Given the description of an element on the screen output the (x, y) to click on. 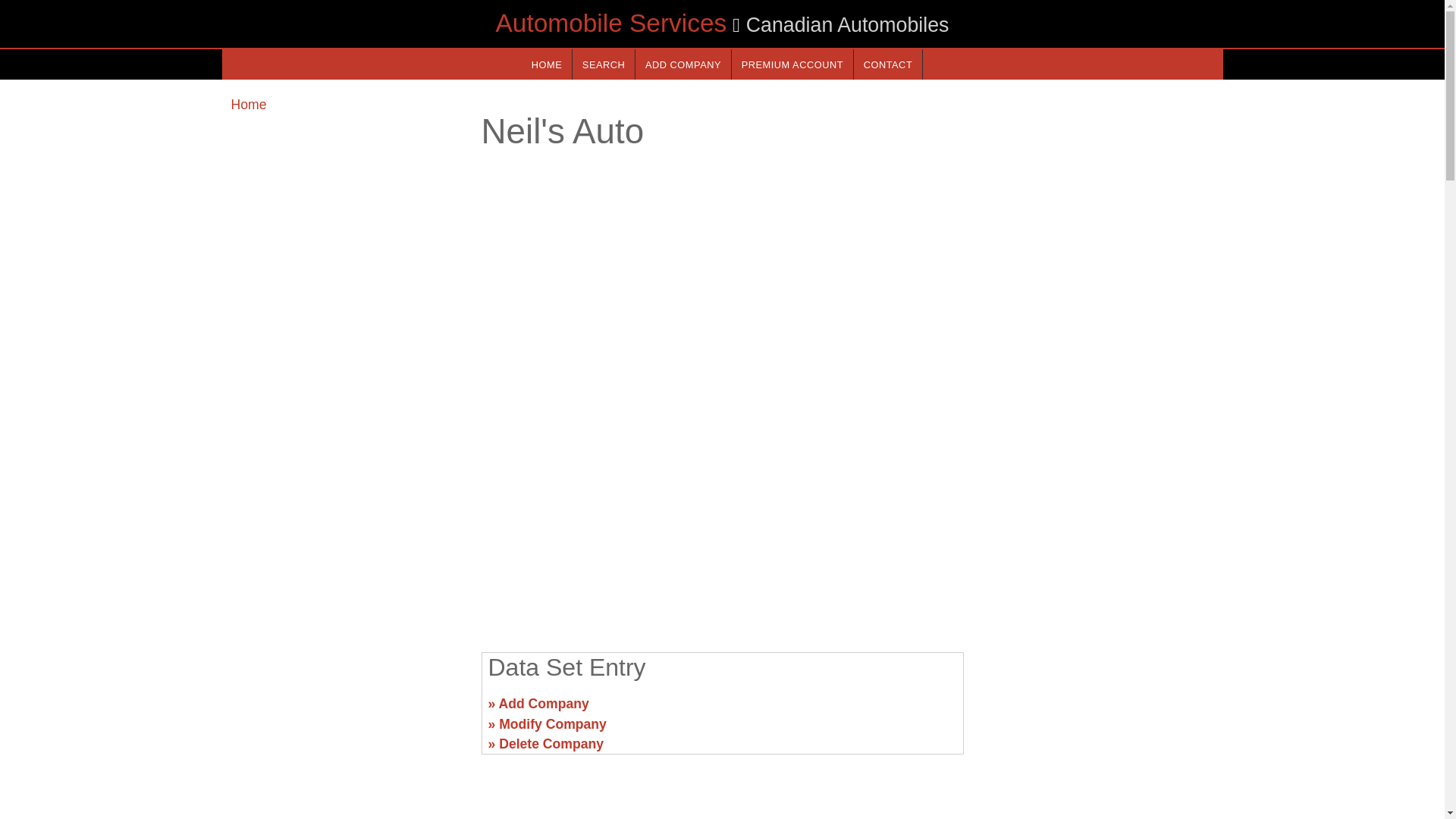
Advertisement (721, 522)
Premium account (792, 64)
HOME (546, 64)
Home (248, 104)
Search in this webseite. (603, 64)
PREMIUM ACCOUNT (792, 64)
CONTACT (887, 64)
Advertisement (1096, 710)
Advertisement (346, 710)
SEARCH (603, 64)
ADD COMPANY (682, 64)
Add a new company (682, 64)
Automobile Services (611, 22)
